Given the description of an element on the screen output the (x, y) to click on. 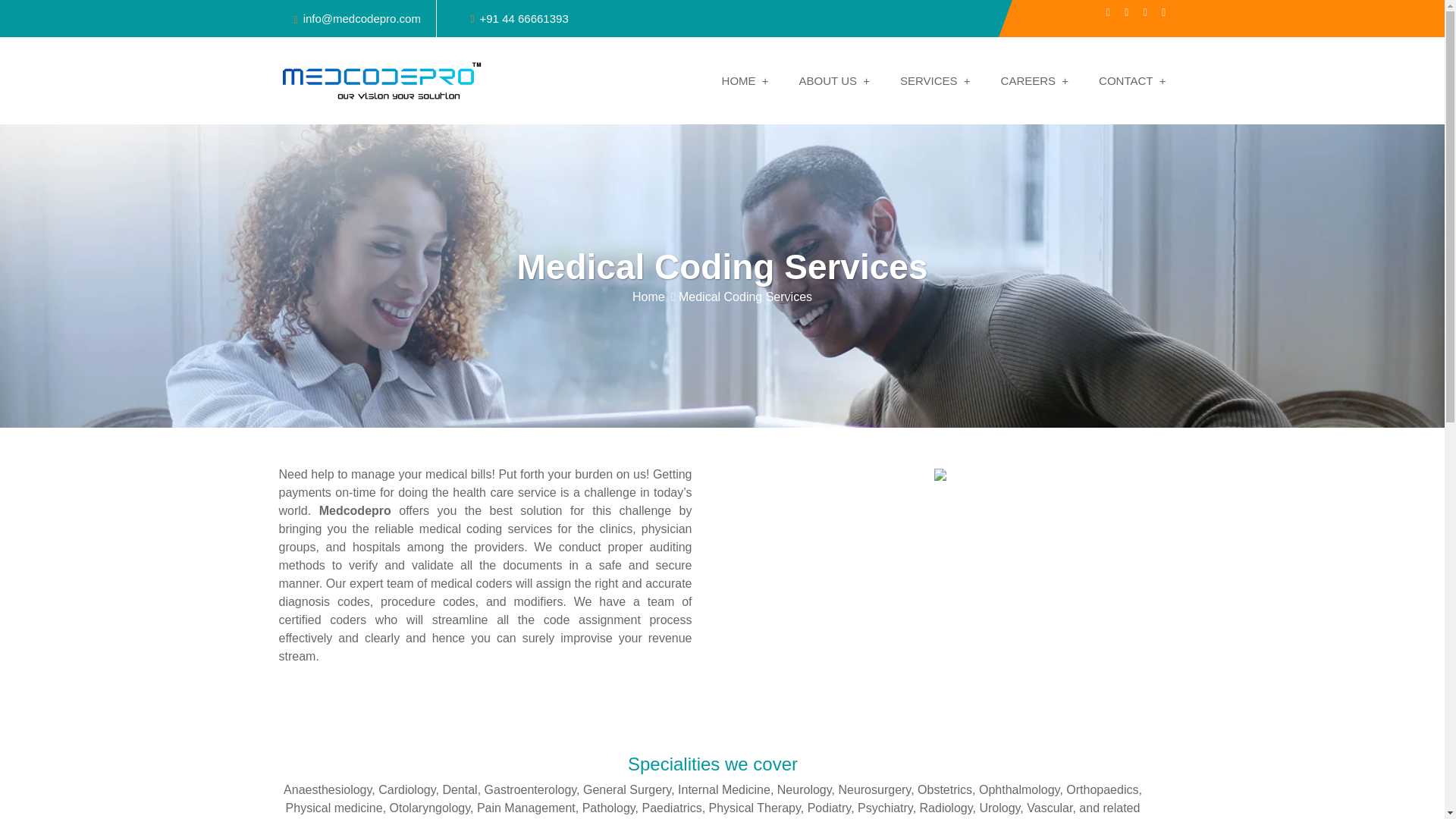
Medical Coding Services (745, 295)
Home (654, 295)
